Given the description of an element on the screen output the (x, y) to click on. 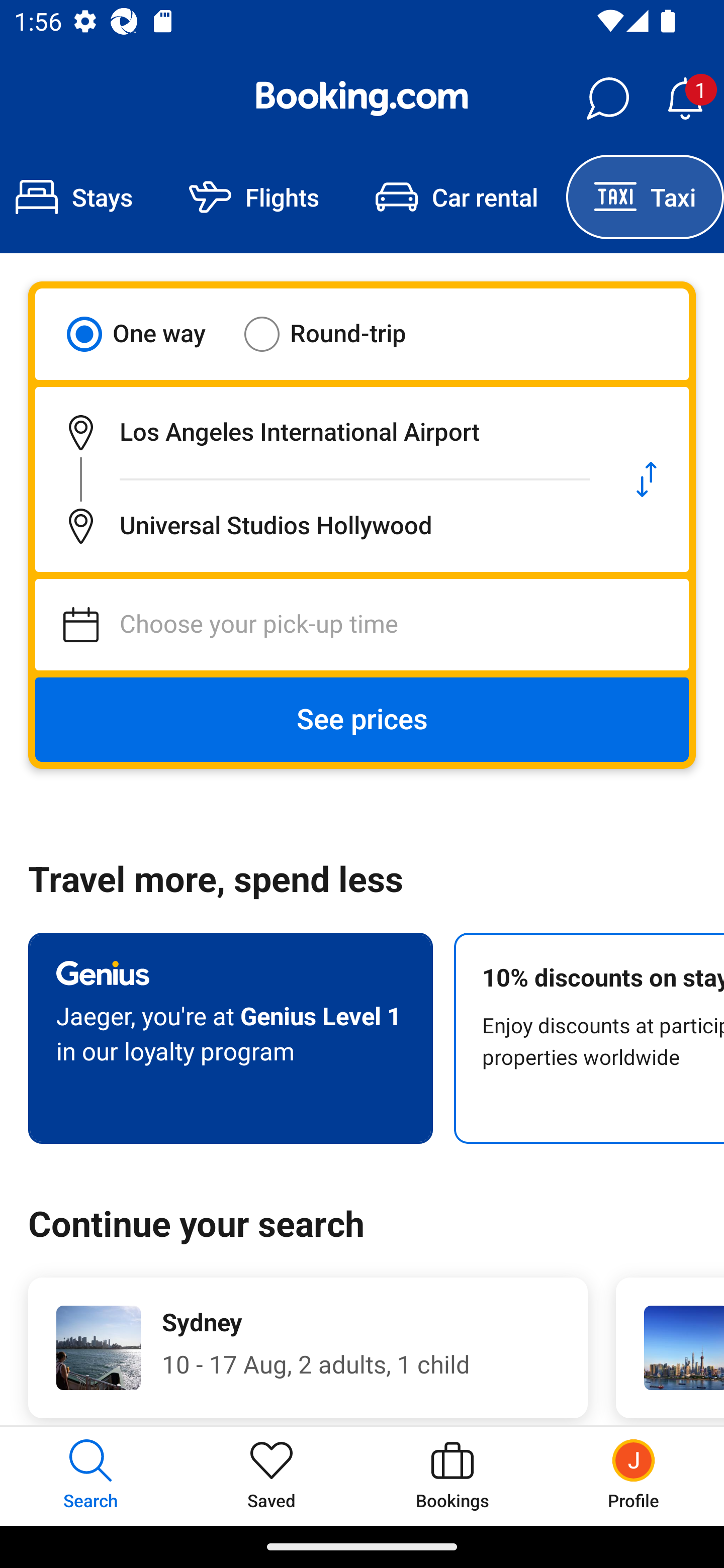
Messages (607, 98)
Notifications (685, 98)
Stays (80, 197)
Flights (253, 197)
Car rental (456, 197)
Taxi (645, 197)
Round-trip (337, 333)
Swap pick-up location and destination (646, 479)
Destination: Universal Studios Hollywood (319, 525)
Choose your pick-up time (361, 624)
See prices (361, 719)
Sydney 10 - 17 Aug, 2 adults, 1 child (307, 1347)
Saved (271, 1475)
Bookings (452, 1475)
Profile (633, 1475)
